Given the description of an element on the screen output the (x, y) to click on. 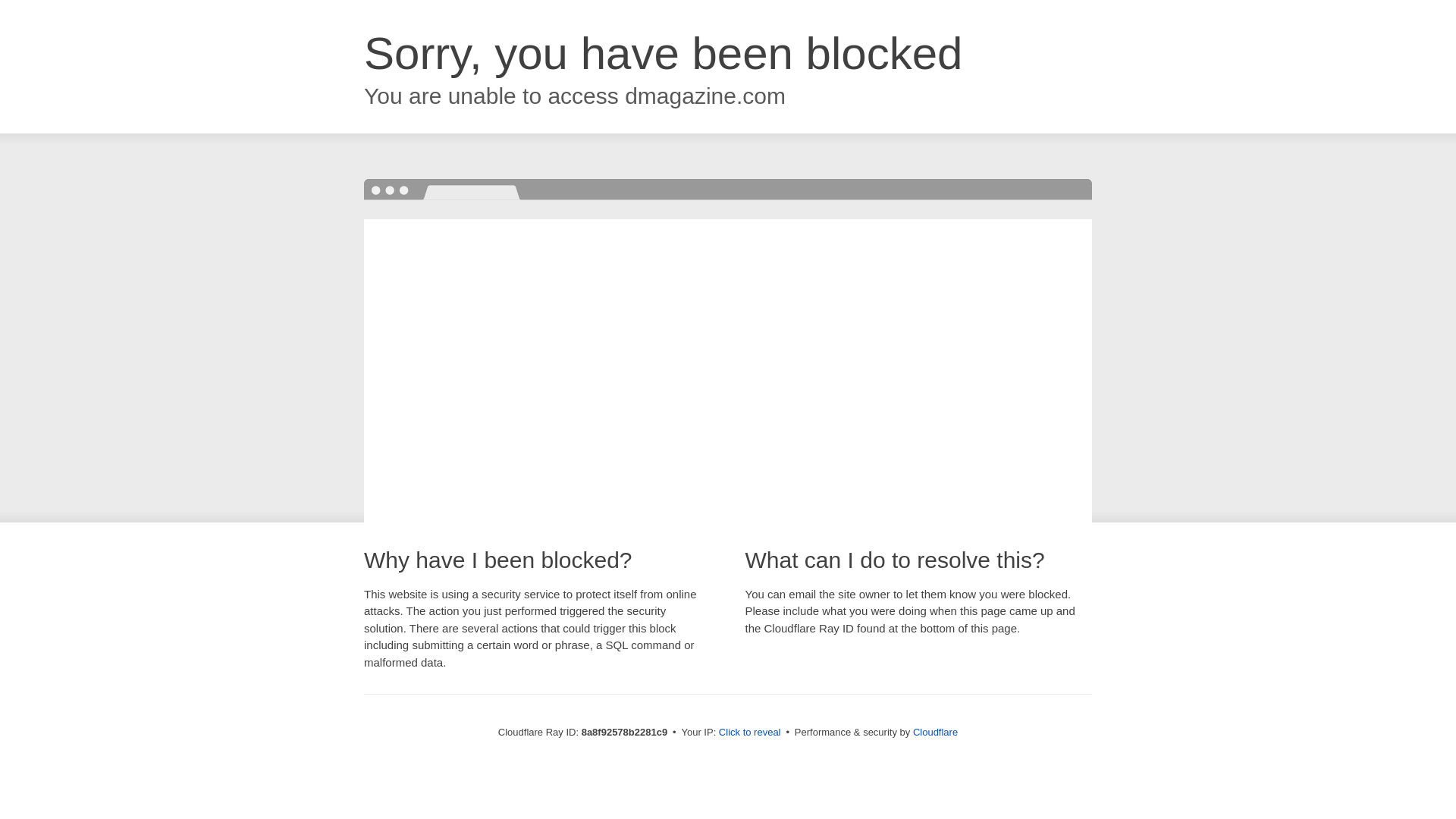
Click to reveal (749, 732)
Cloudflare (935, 731)
